Given the description of an element on the screen output the (x, y) to click on. 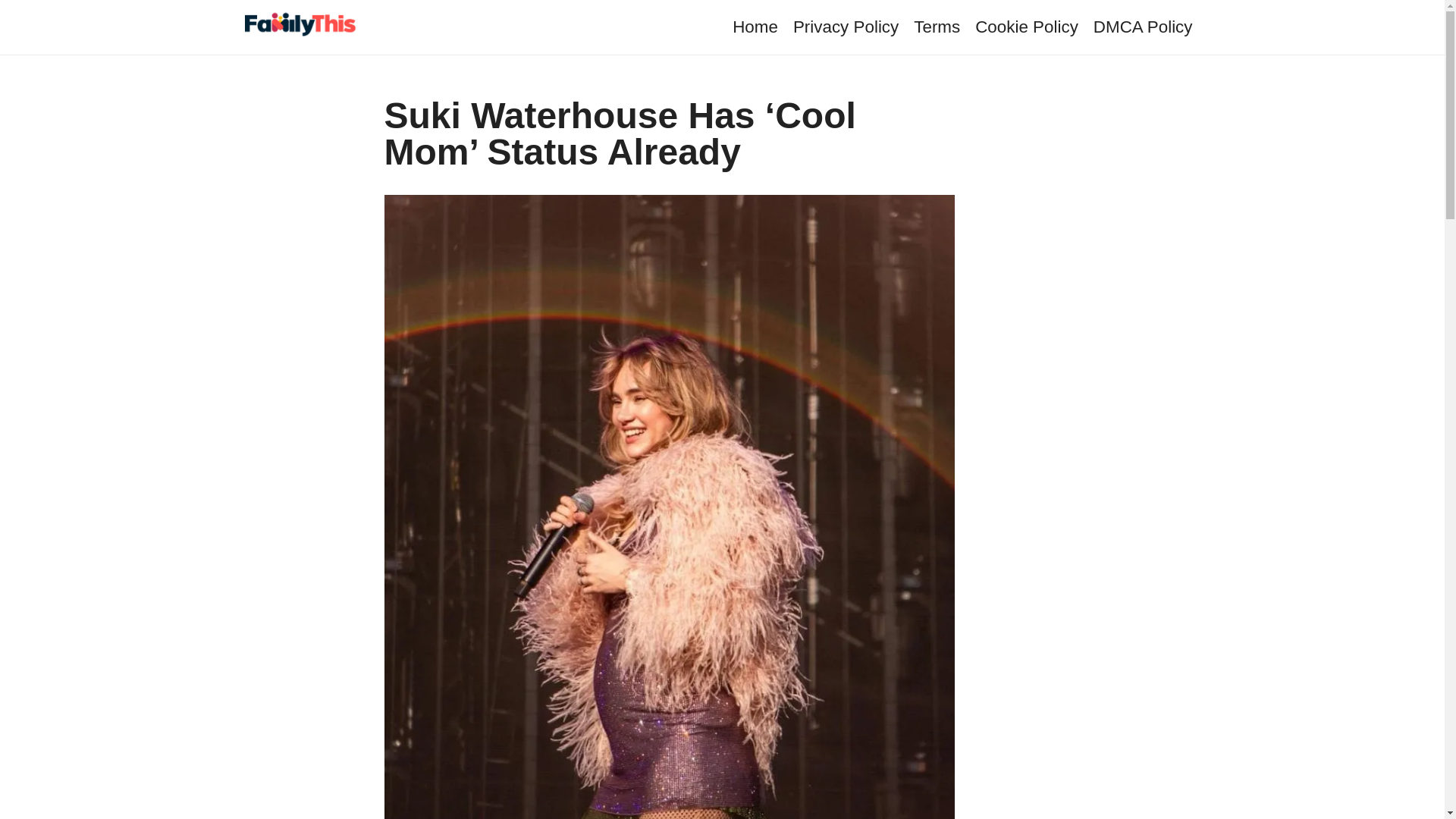
Terms (936, 26)
Cookie Policy (1026, 26)
Privacy Policy (845, 26)
Home (754, 26)
DMCA Policy (1142, 26)
